Given the description of an element on the screen output the (x, y) to click on. 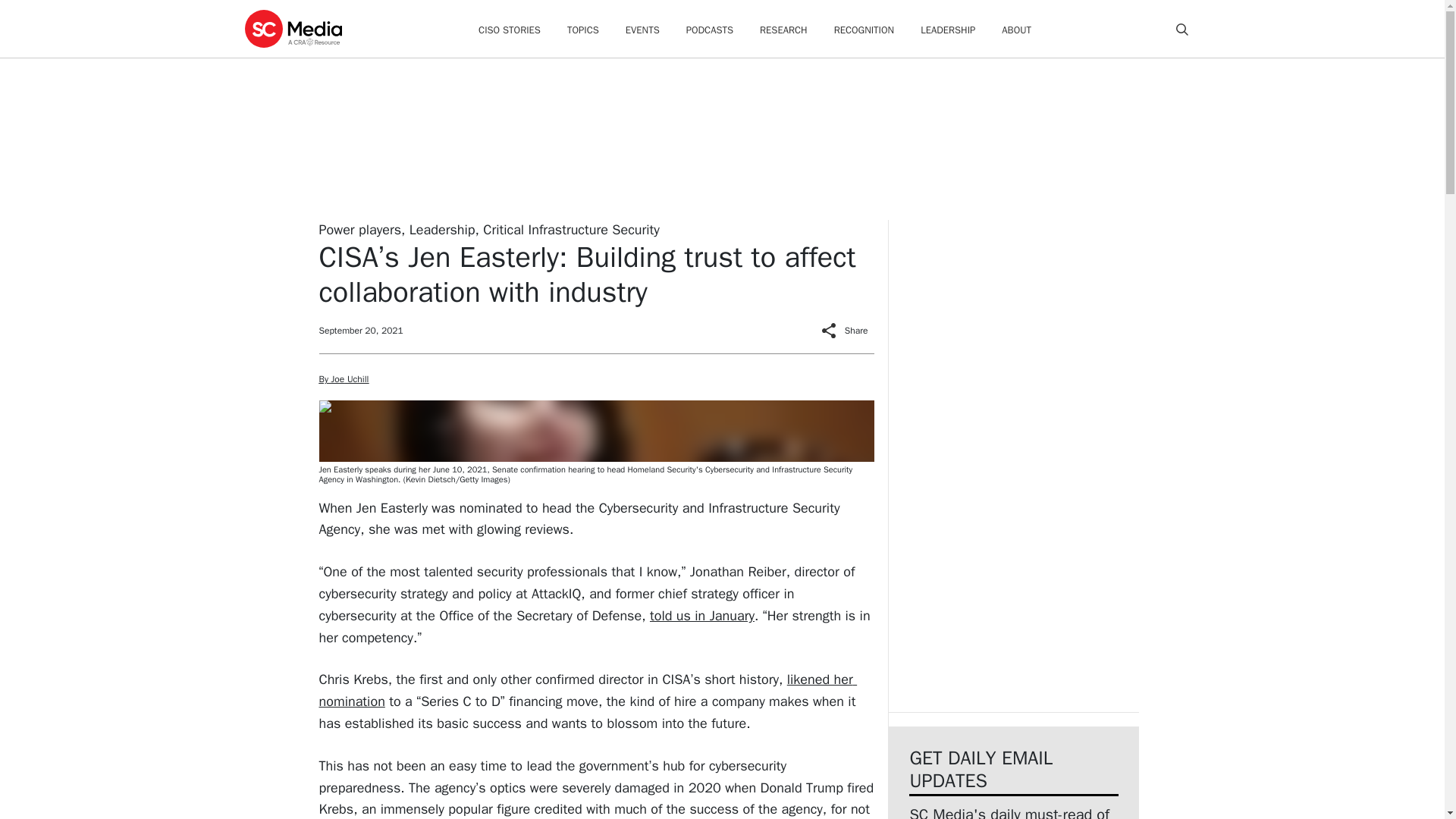
PODCASTS (709, 30)
TOPICS (582, 30)
likened her nomination (587, 690)
CISO STORIES (509, 30)
By Joe Uchill (343, 378)
EVENTS (642, 30)
Power players (359, 229)
RESEARCH (784, 30)
Critical Infrastructure Security (571, 229)
LEADERSHIP (947, 30)
RECOGNITION (863, 30)
told us in January (701, 615)
SC Media (292, 27)
Leadership (442, 229)
ABOUT (1015, 30)
